Given the description of an element on the screen output the (x, y) to click on. 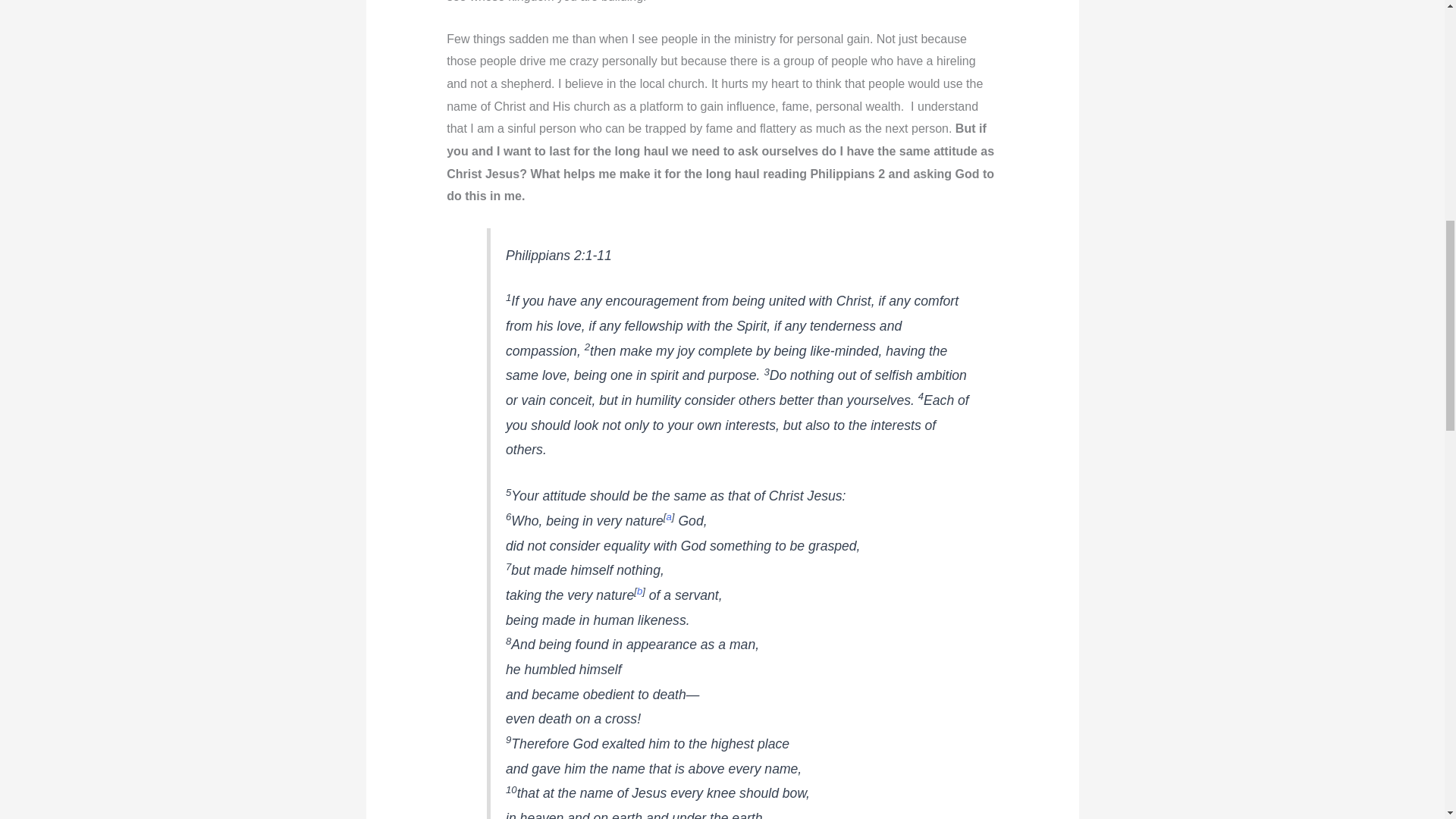
See footnote b (639, 591)
a (668, 516)
See footnote a (668, 516)
b (639, 591)
